Given the description of an element on the screen output the (x, y) to click on. 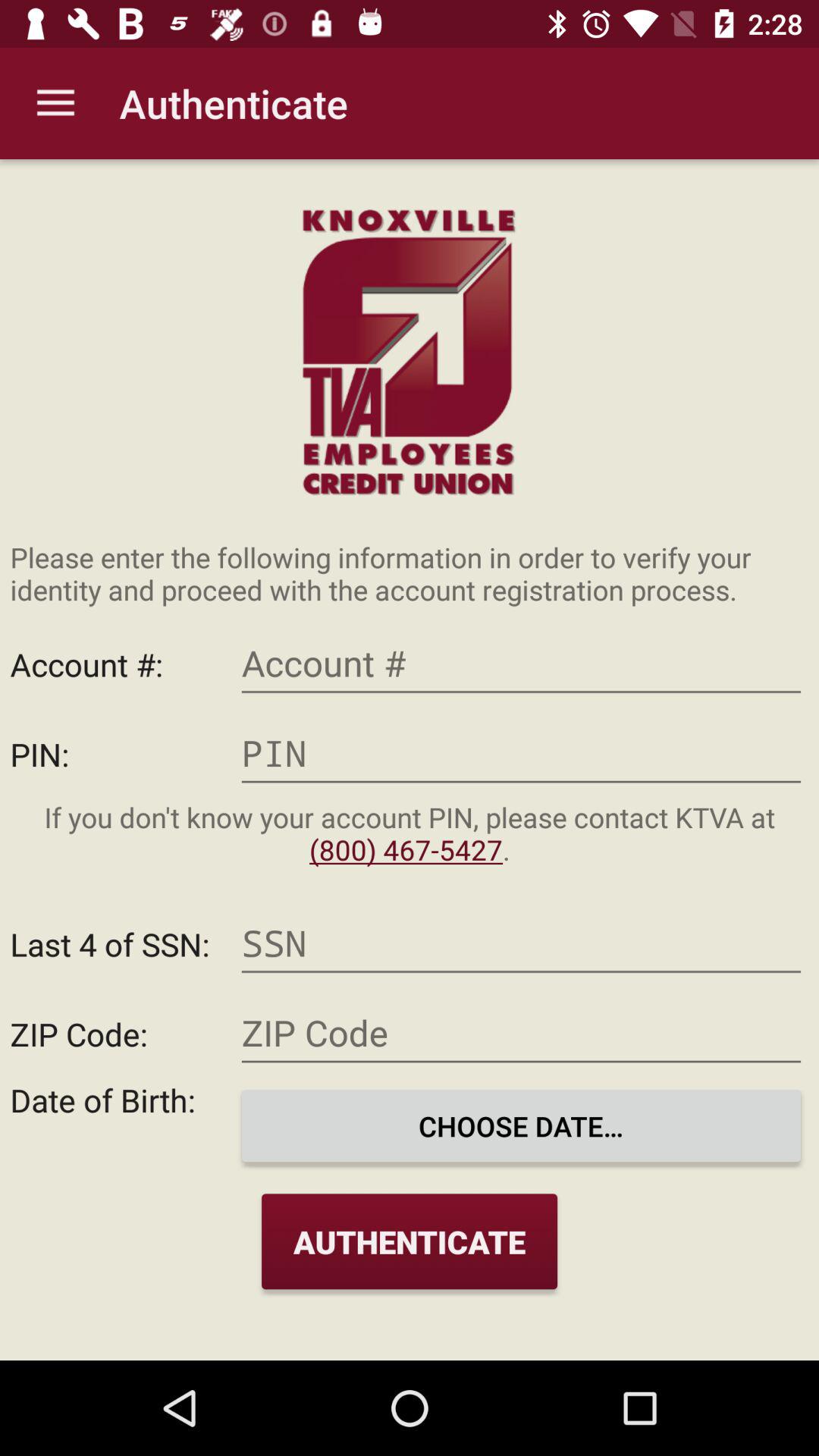
launch the icon above the authenticate item (520, 1125)
